Given the description of an element on the screen output the (x, y) to click on. 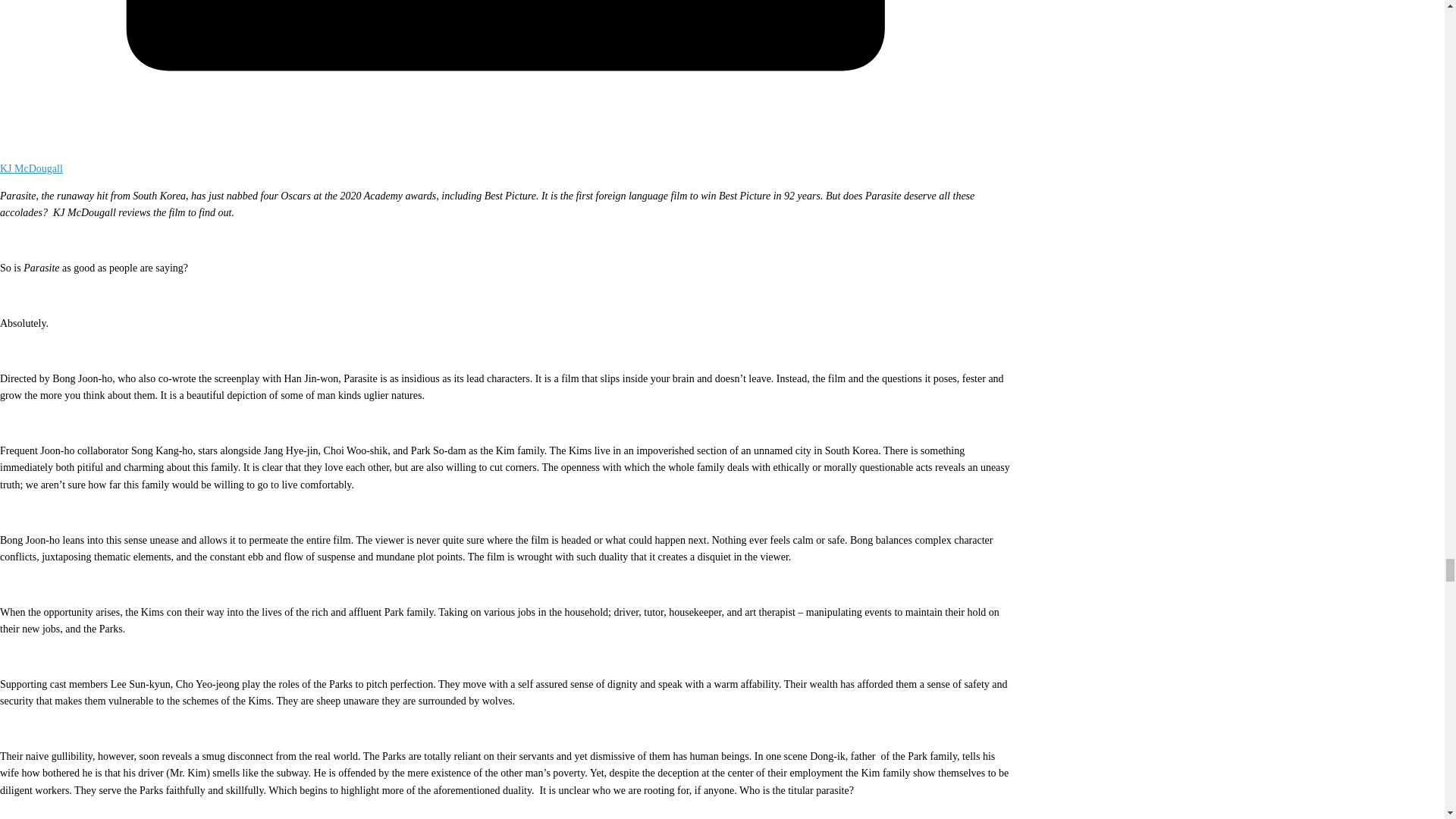
KJ McDougall (31, 168)
